Given the description of an element on the screen output the (x, y) to click on. 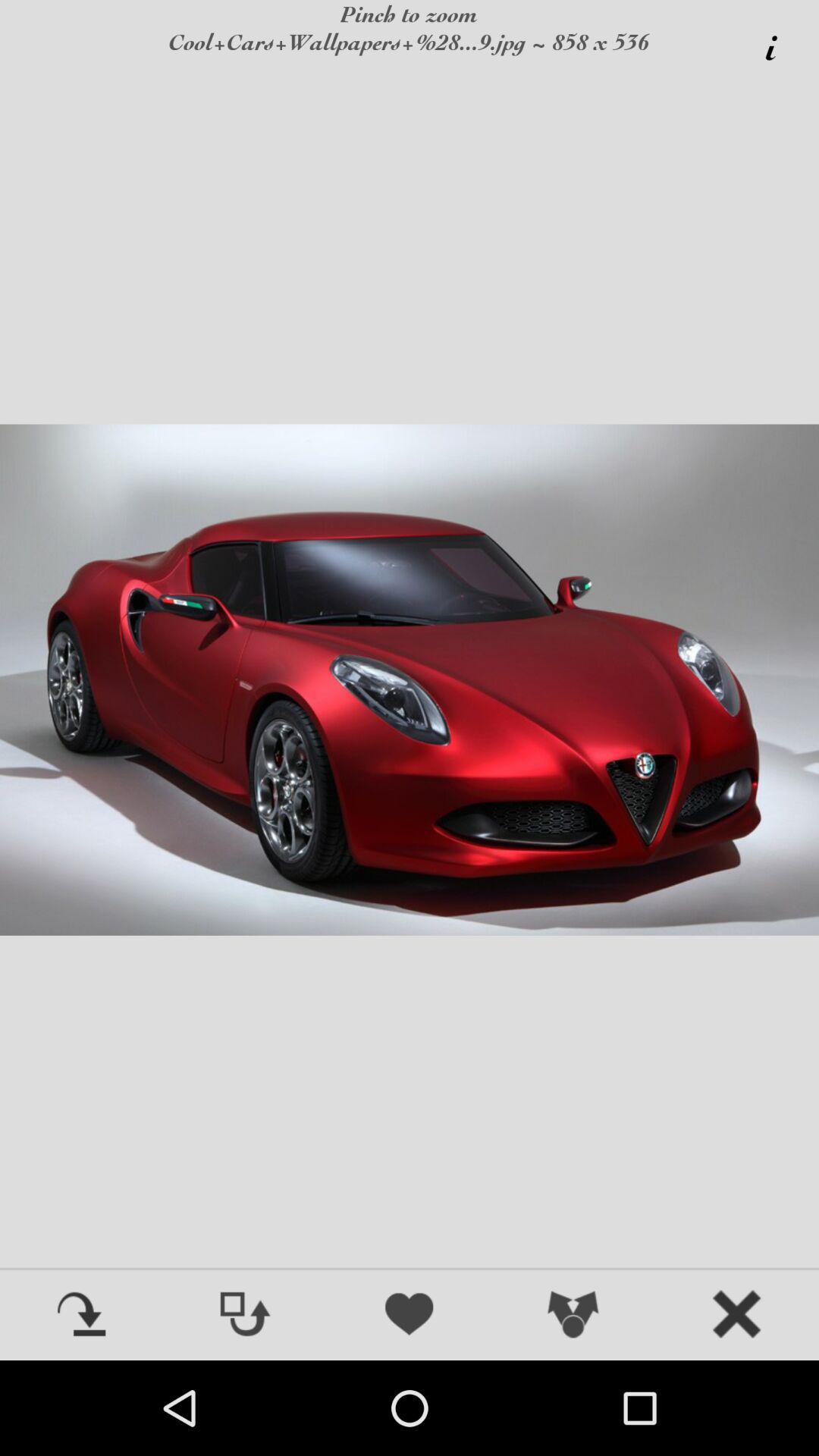
like photo (409, 1315)
